Given the description of an element on the screen output the (x, y) to click on. 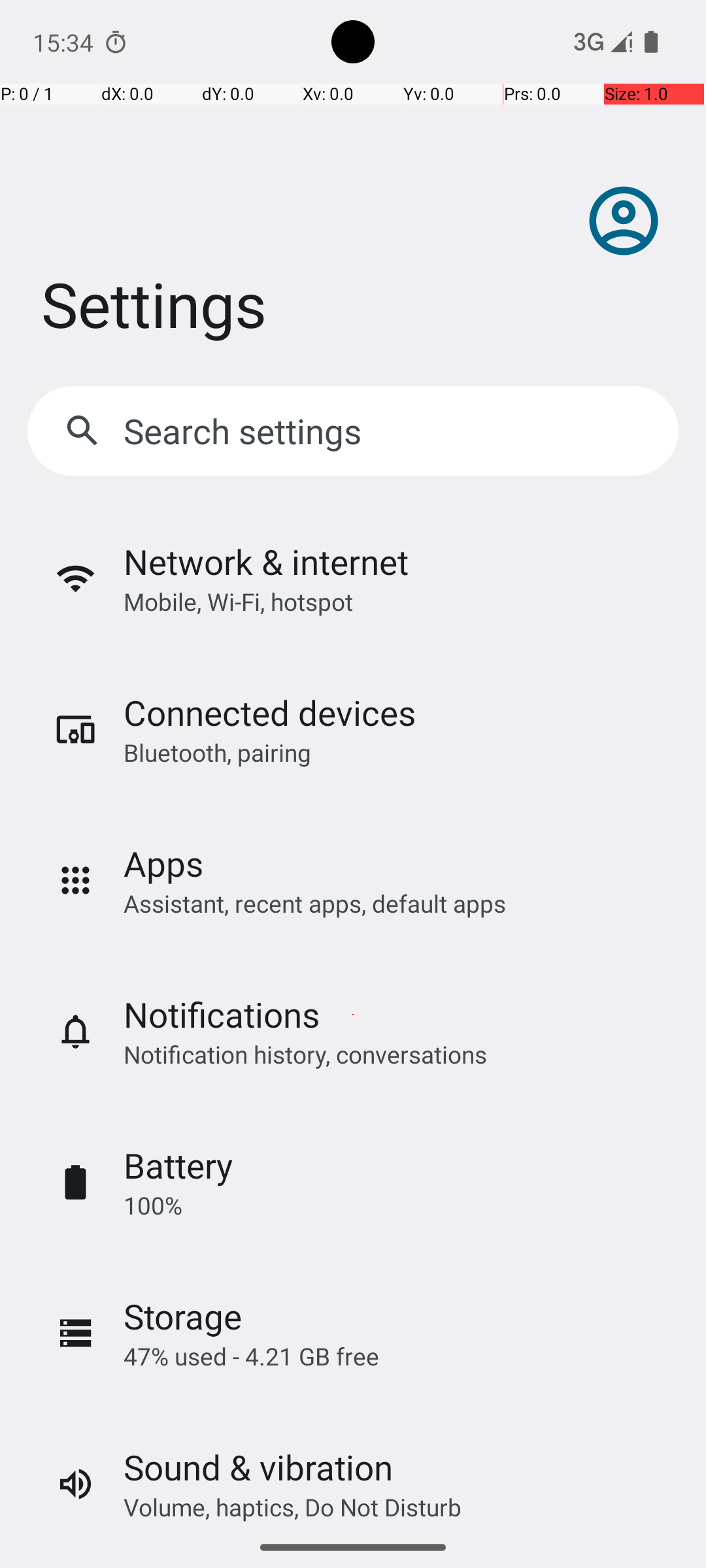
47% used - 4.21 GB free Element type: android.widget.TextView (251, 1355)
